Given the description of an element on the screen output the (x, y) to click on. 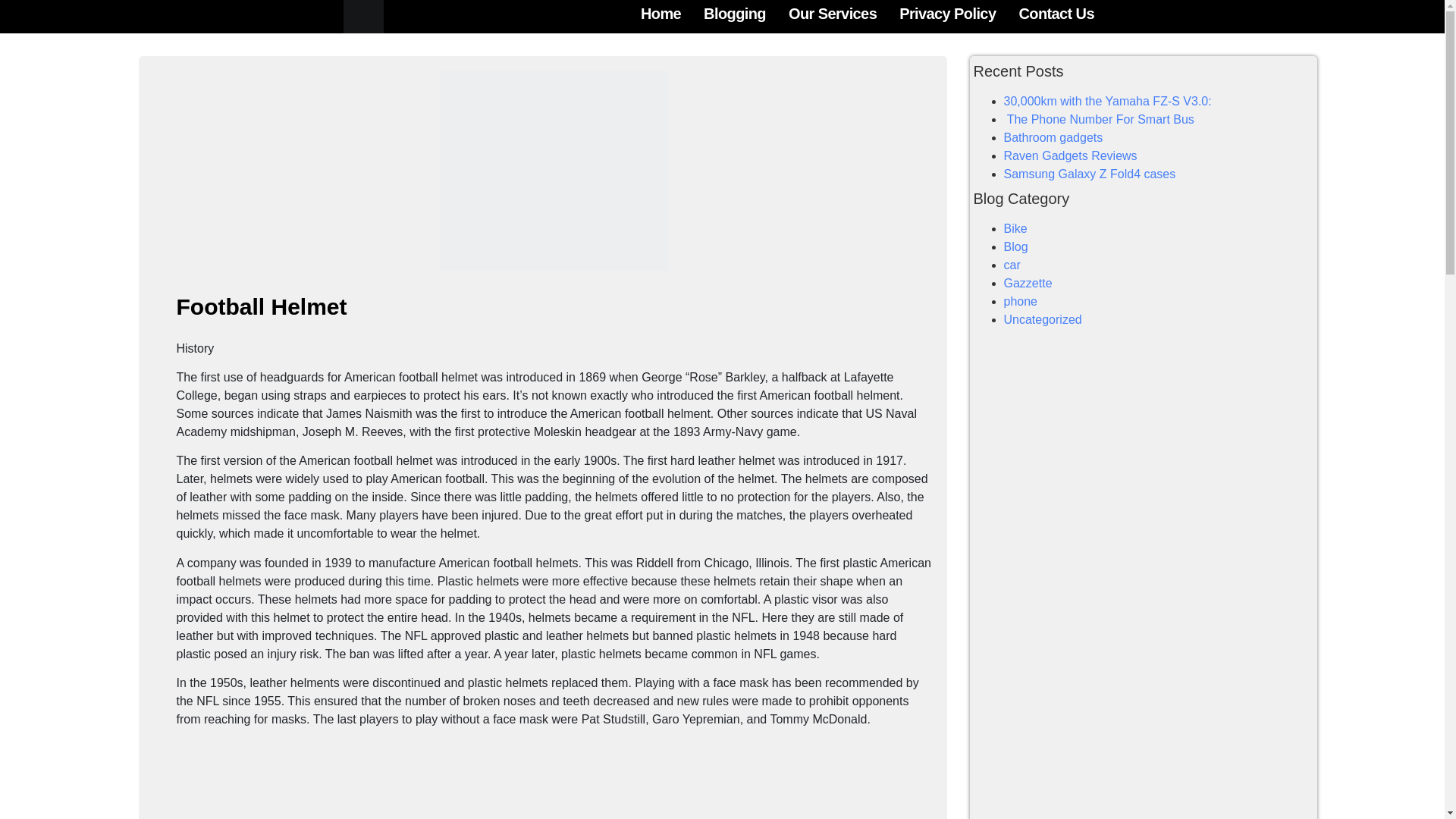
phone (1021, 300)
Raven Gadgets Reviews (1070, 155)
Bike (1015, 228)
Our Services (831, 13)
 The Phone Number For Smart Bus (1098, 119)
Blogging (734, 13)
Contact Us (1056, 13)
Uncategorized (1042, 318)
30,000km with the Yamaha FZ-S V3.0: (1107, 101)
Bathroom gadgets (1053, 137)
Gazzette (1028, 282)
car (1012, 264)
Blog (1015, 246)
Samsung Galaxy Z Fold4 cases (1090, 173)
Privacy Policy (947, 13)
